Given the description of an element on the screen output the (x, y) to click on. 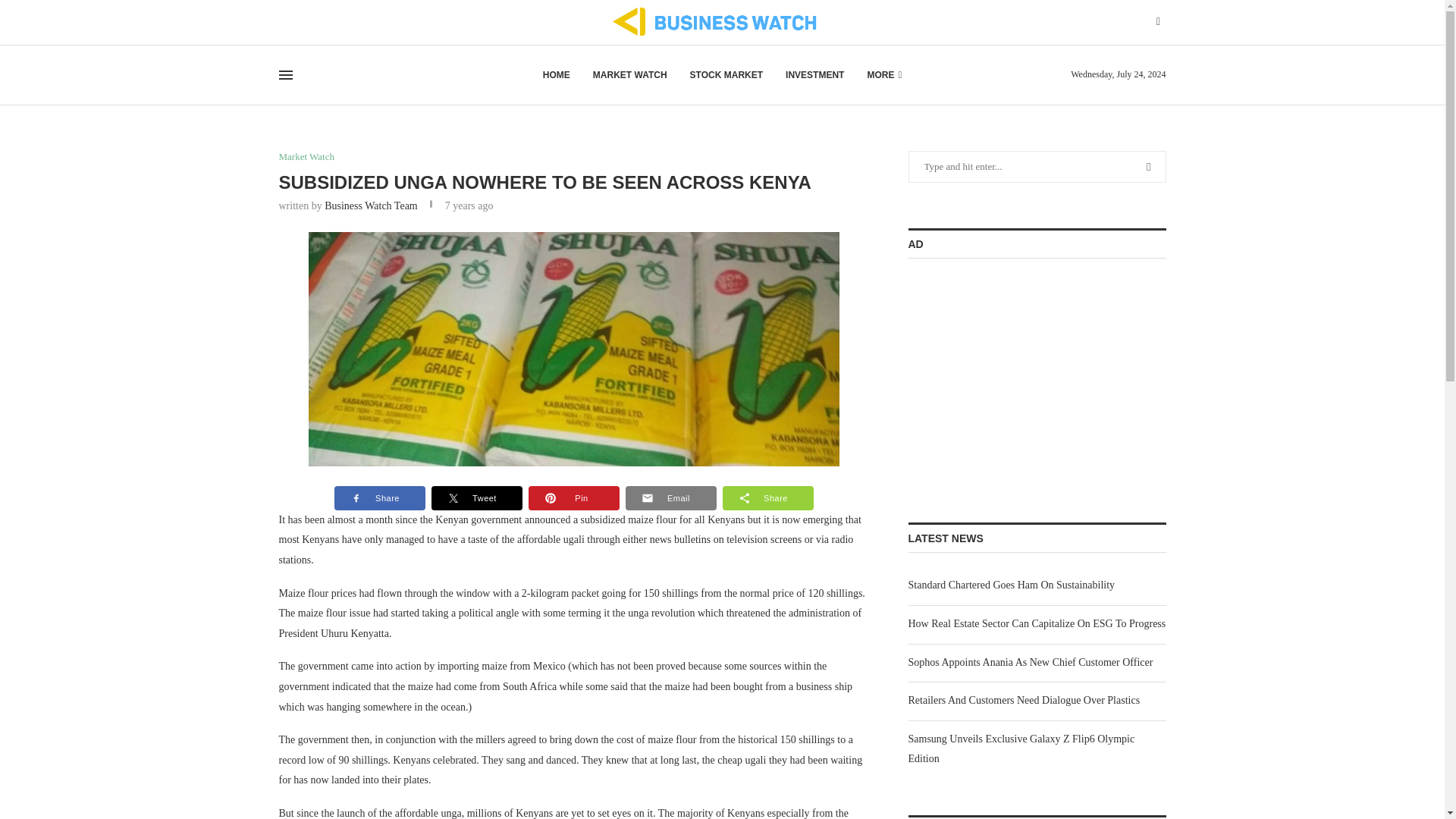
MARKET WATCH (629, 75)
Advertisement (1021, 375)
STOCK MARKET (726, 75)
unga (574, 348)
INVESTMENT (815, 75)
